Given the description of an element on the screen output the (x, y) to click on. 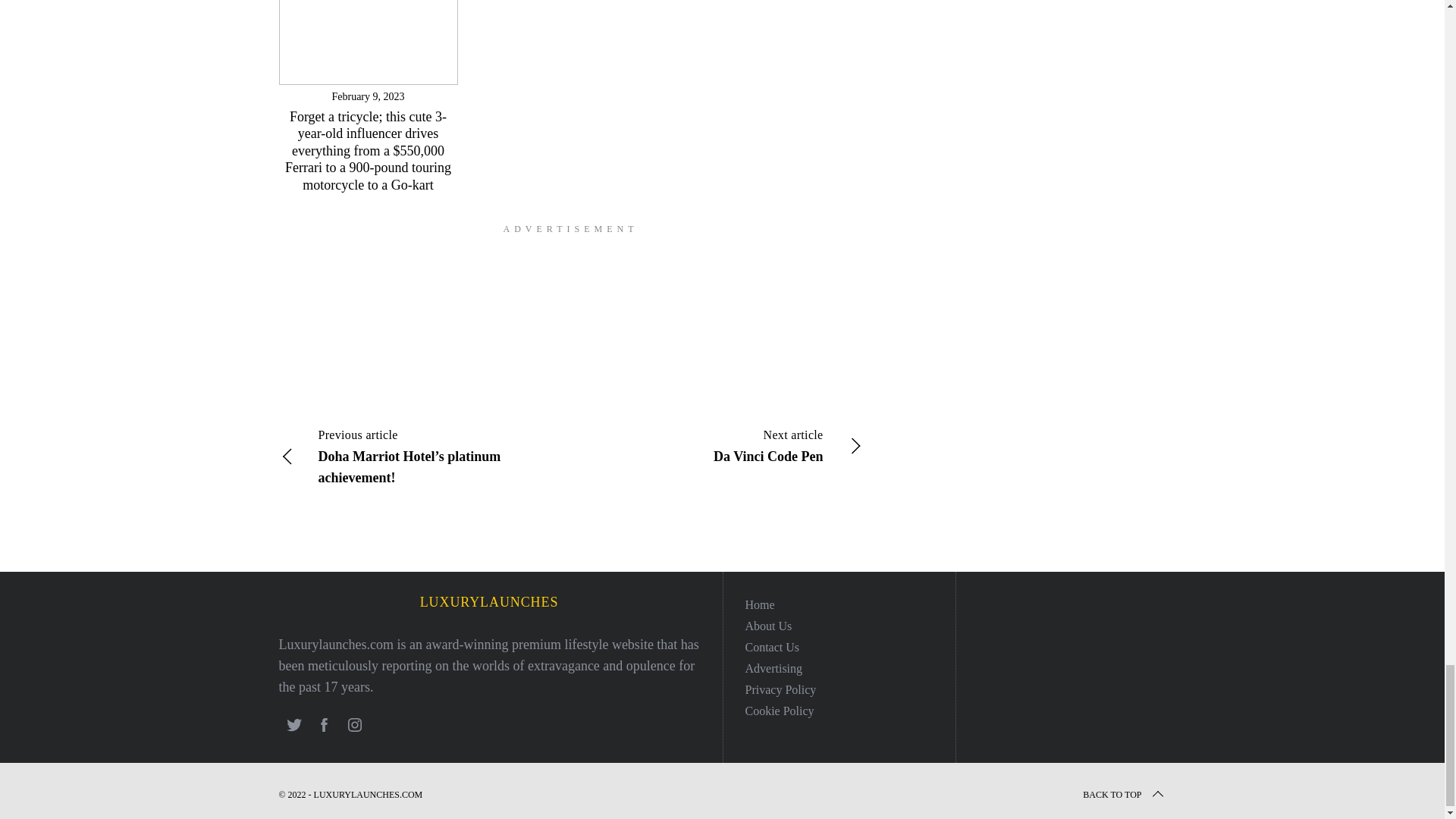
Advertising (773, 667)
Contact us (771, 646)
Cookie Policy (778, 710)
Home (759, 604)
About Us (768, 625)
Privacy Policy (779, 689)
